Given the description of an element on the screen output the (x, y) to click on. 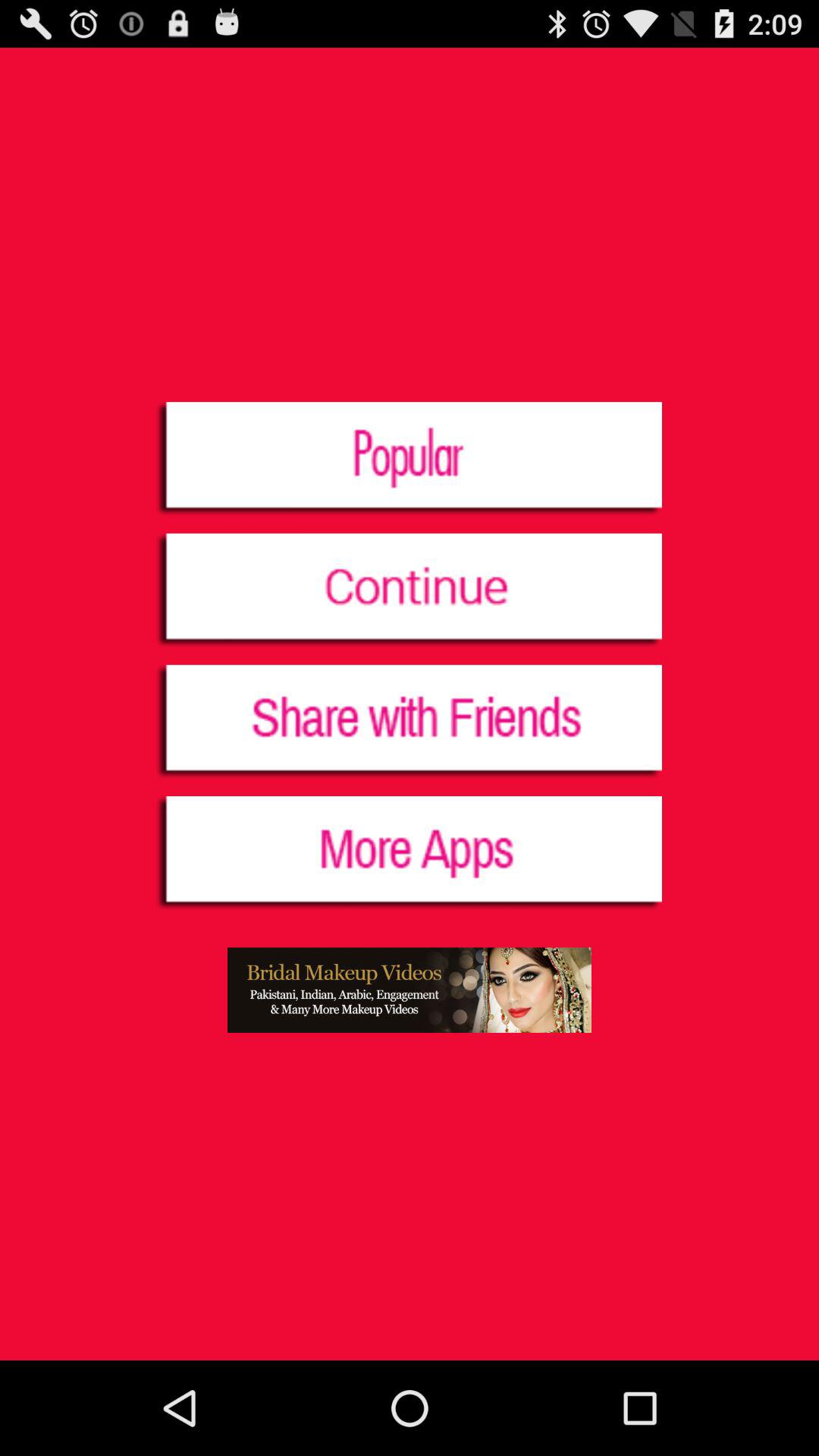
share with friends (409, 722)
